Given the description of an element on the screen output the (x, y) to click on. 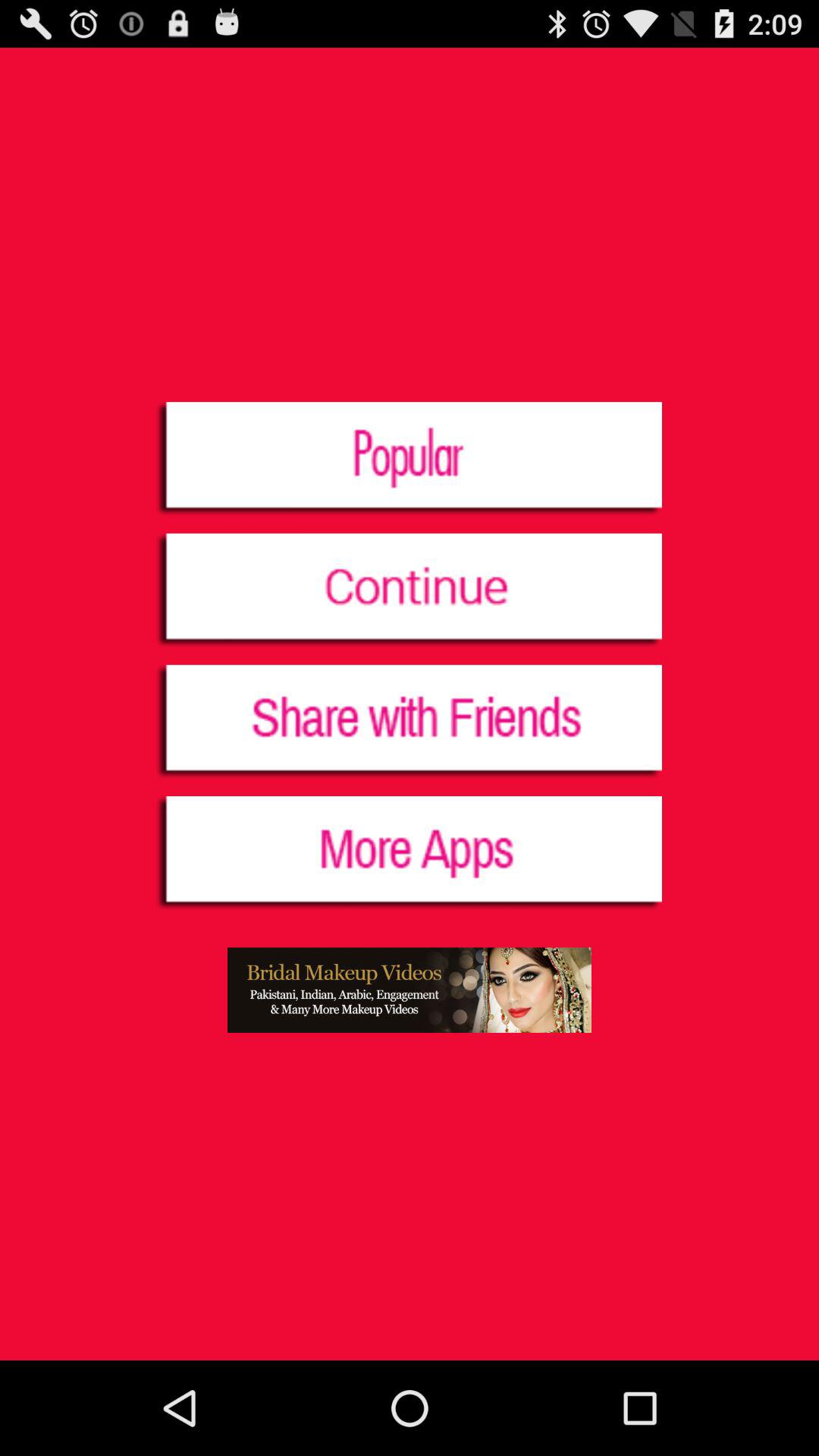
share with friends (409, 722)
